Given the description of an element on the screen output the (x, y) to click on. 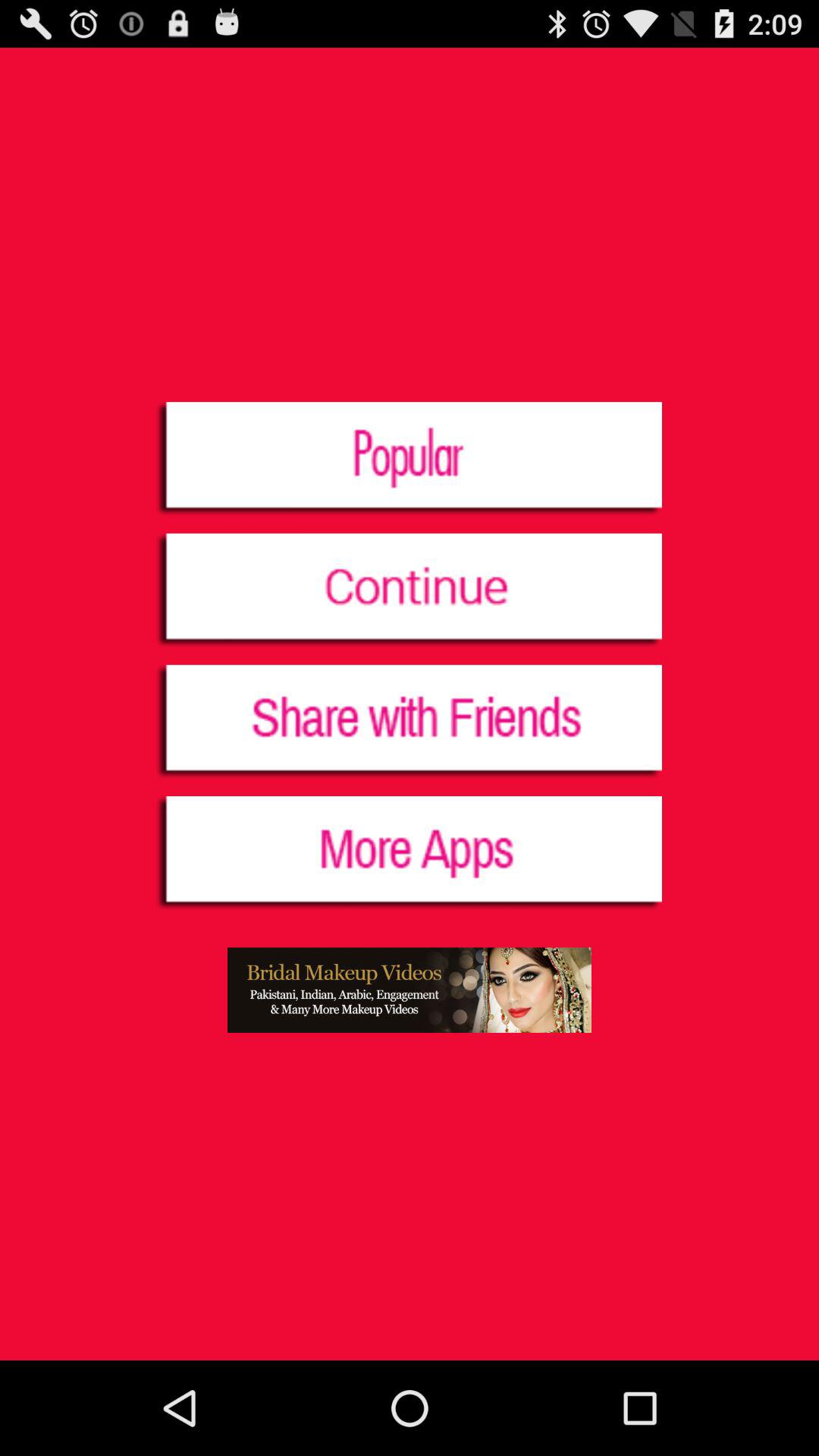
share with friends (409, 722)
